Given the description of an element on the screen output the (x, y) to click on. 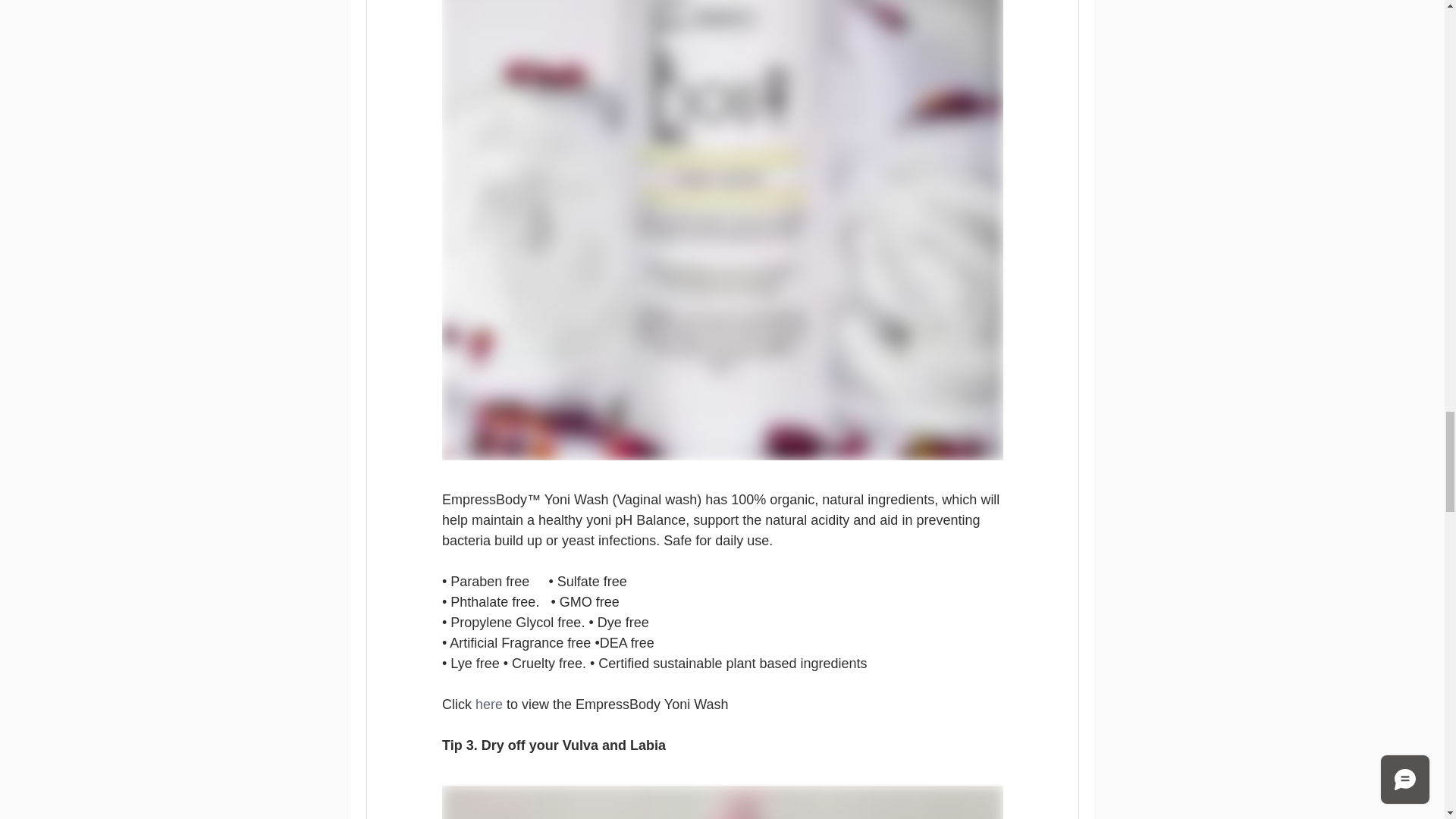
here (488, 703)
